Given the description of an element on the screen output the (x, y) to click on. 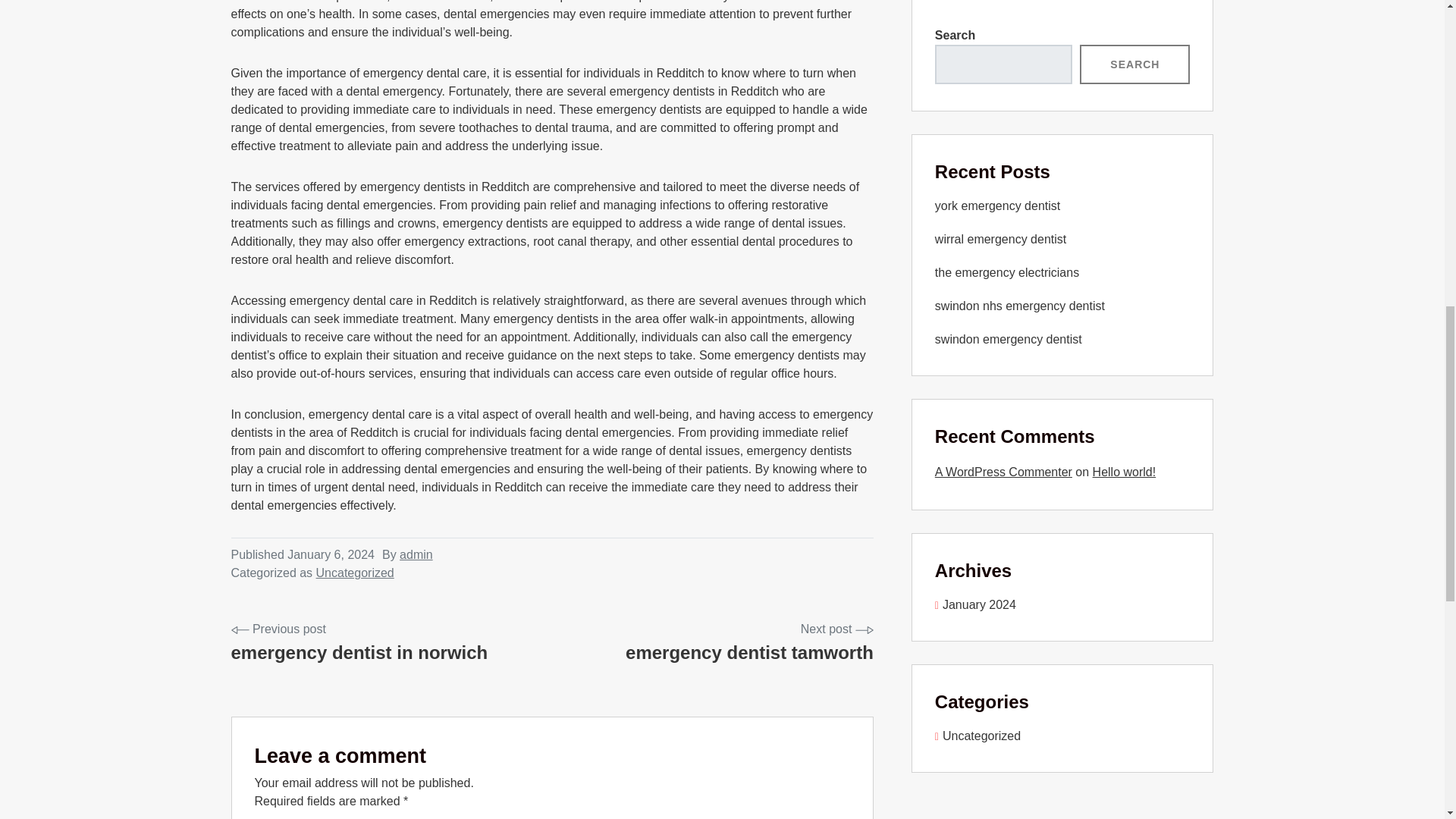
January 2024 (975, 604)
swindon emergency dentist (1007, 338)
admin (415, 554)
A WordPress Commenter (1002, 472)
wirral emergency dentist (999, 238)
Uncategorized (977, 735)
SEARCH (749, 642)
swindon nhs emergency dentist (1134, 64)
the emergency electricians (1019, 305)
